Given the description of an element on the screen output the (x, y) to click on. 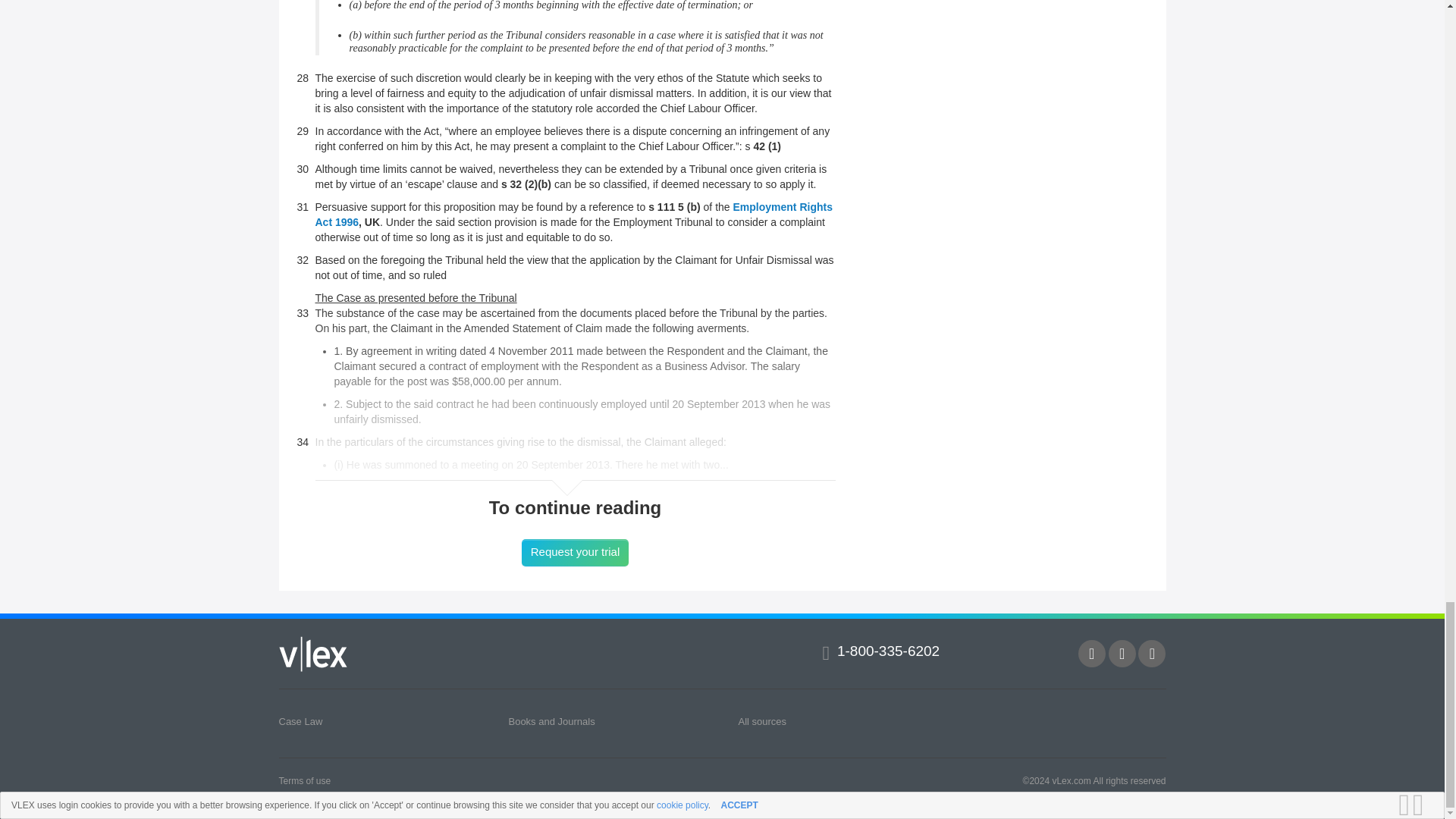
Terms of use (305, 779)
Books and Journals (551, 721)
All sources (762, 721)
All sources (762, 721)
vLex (313, 652)
Case Law (301, 721)
Employment Rights Act 1996 (573, 213)
Case Law (301, 721)
Terms of use (305, 779)
Books and Journals (551, 721)
